Given the description of an element on the screen output the (x, y) to click on. 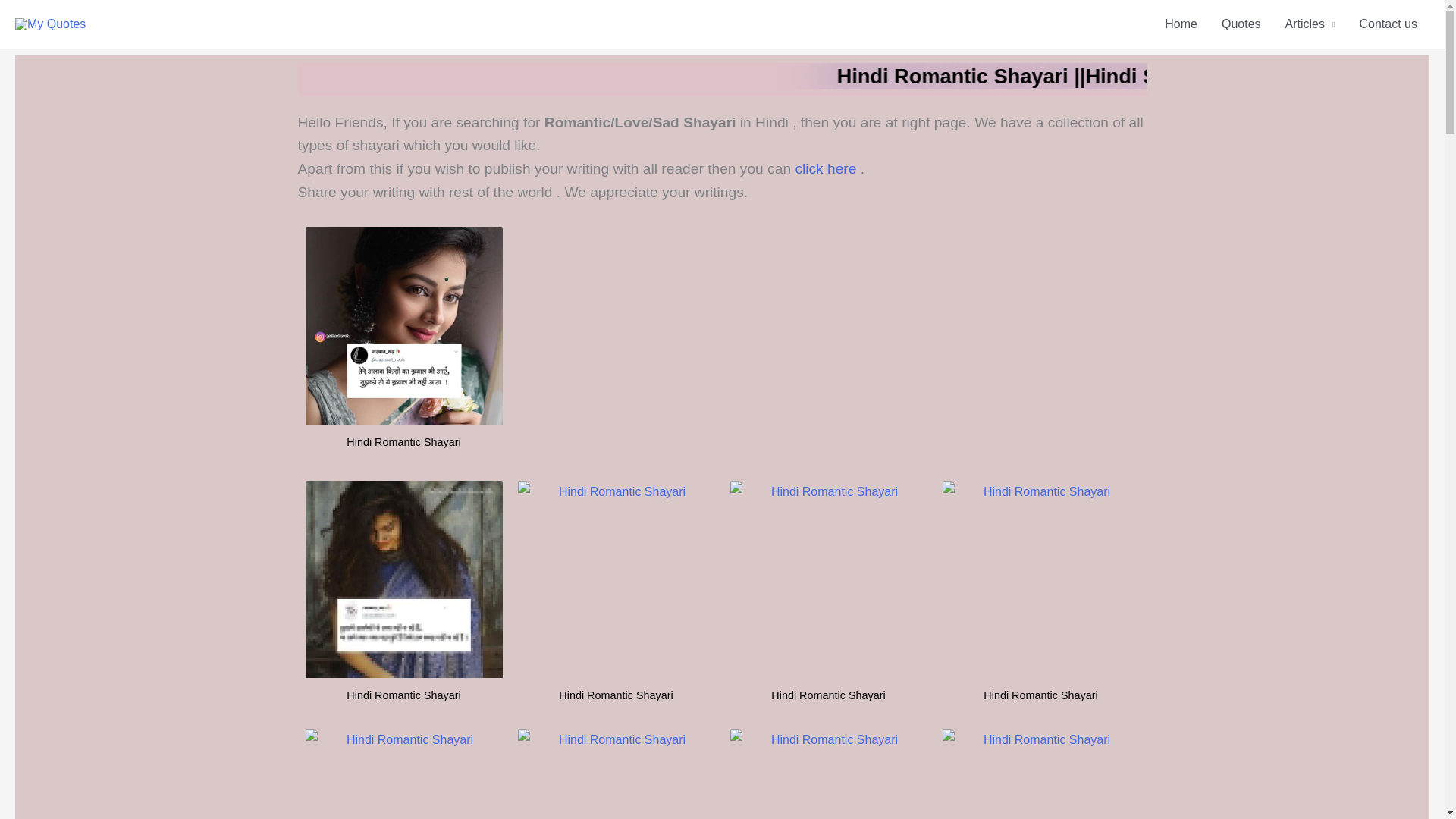
Home (1181, 24)
Quotes (1240, 24)
Articles (1310, 24)
click here  (827, 168)
Contact us (1388, 24)
